Given the description of an element on the screen output the (x, y) to click on. 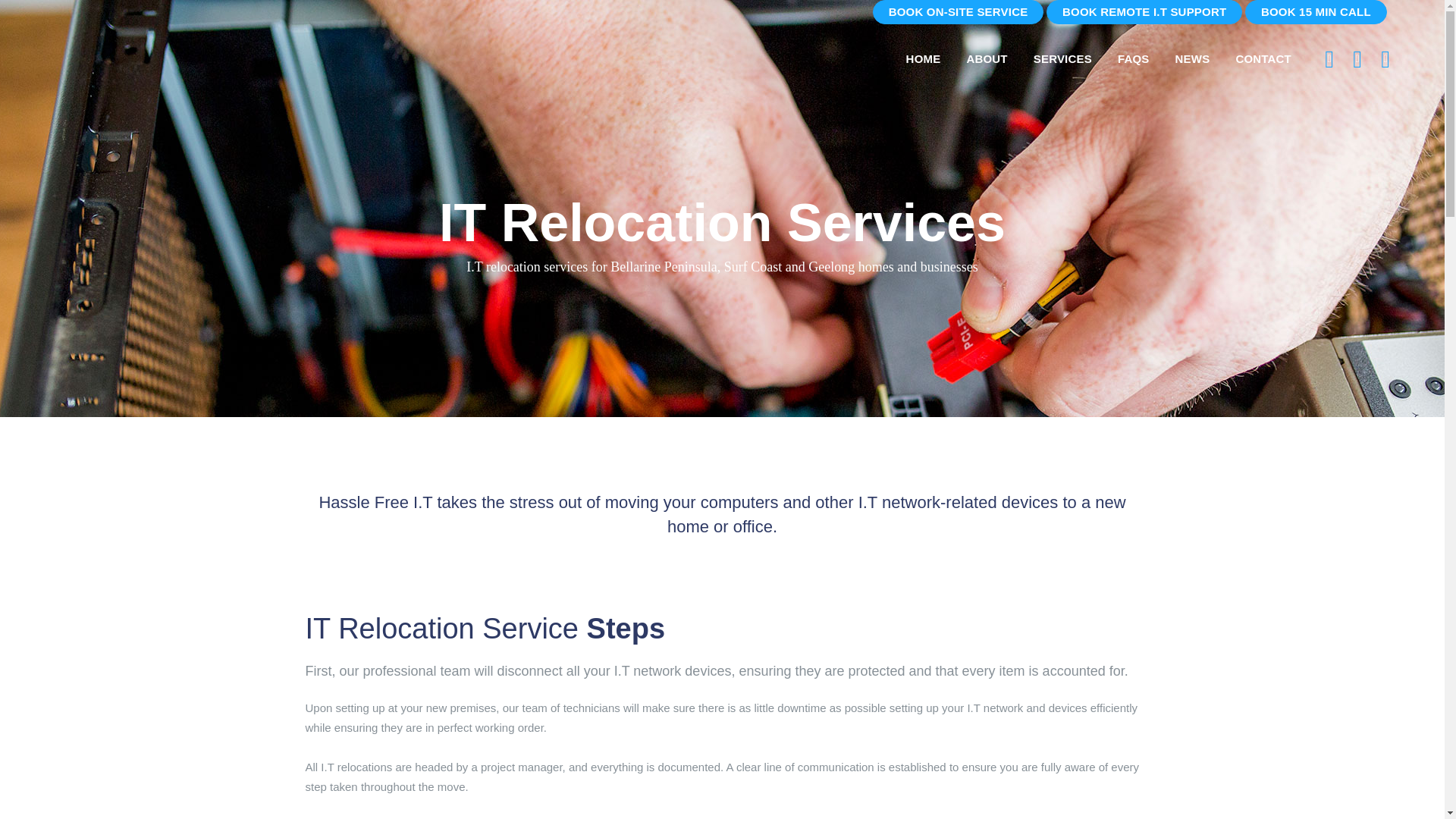
CONTACT (1263, 59)
BOOK 15 MIN CALL (1315, 12)
BOOK ON-SITE SERVICE (957, 12)
ABOUT (986, 59)
HOME (923, 59)
BOOK REMOTE I.T SUPPORT (1143, 12)
SERVICES (1062, 59)
